Given the description of an element on the screen output the (x, y) to click on. 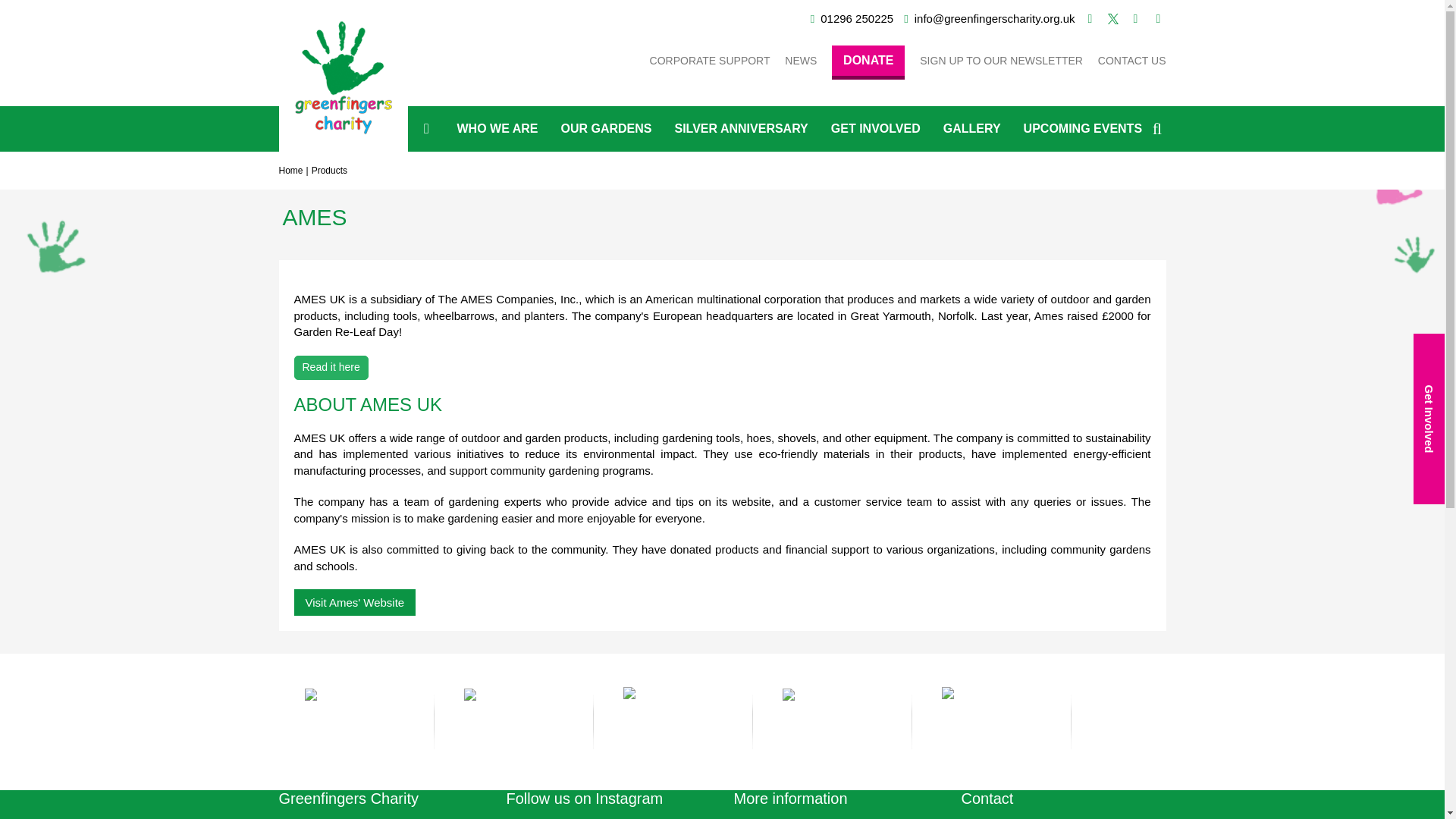
Home (290, 170)
CORPORATE SUPPORT (709, 60)
OUR GARDENS (605, 128)
SIGN UP TO OUR NEWSLETTER (1001, 60)
Donate (867, 62)
GALLERY (971, 128)
News (800, 60)
Products (329, 170)
Products (329, 170)
